Given the description of an element on the screen output the (x, y) to click on. 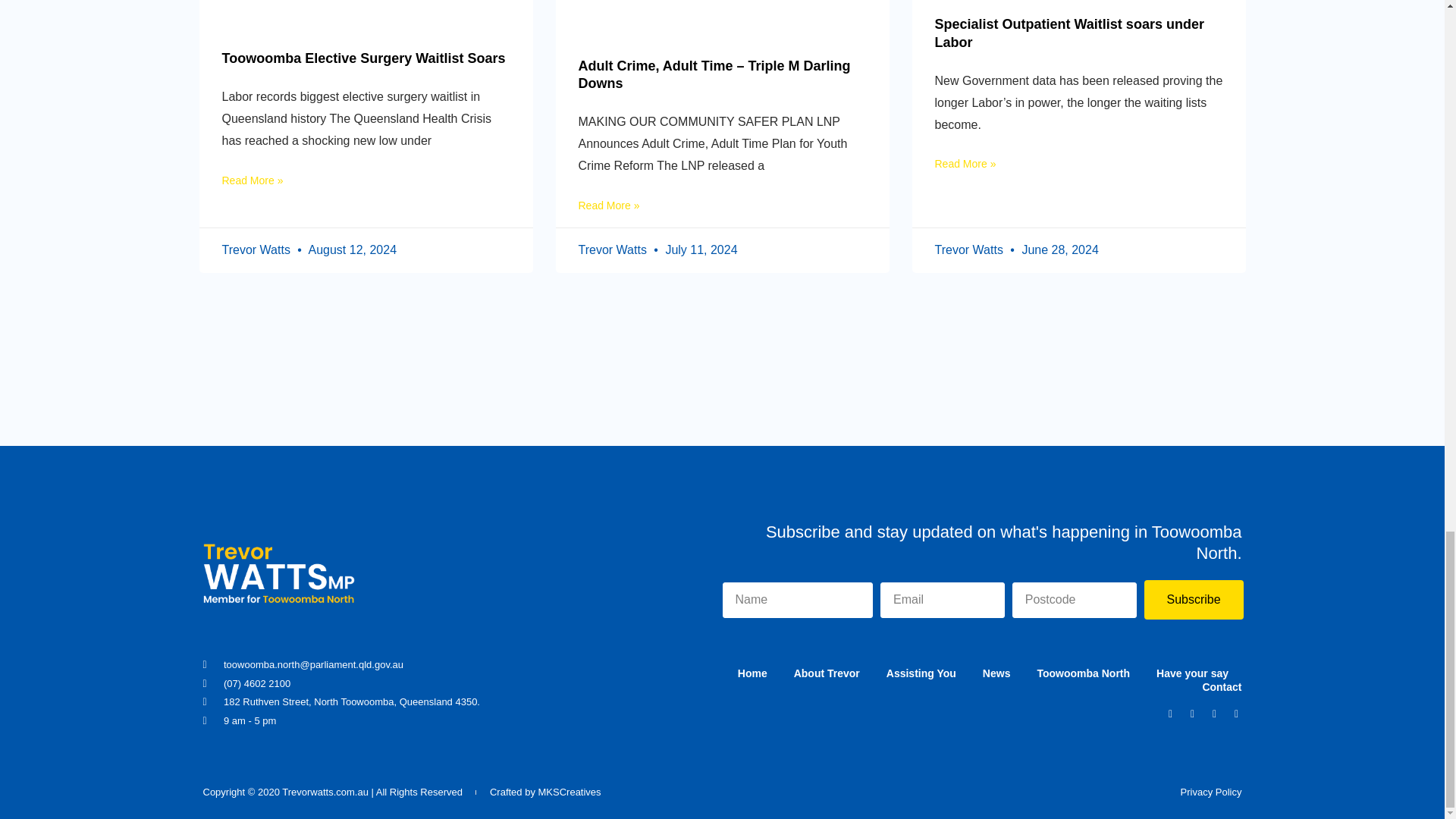
Toowoomba Elective Surgery Waitlist Soars (363, 58)
Subscribe (1192, 599)
Specialist Outpatient Waitlist soars under Labor (1069, 32)
